Given the description of an element on the screen output the (x, y) to click on. 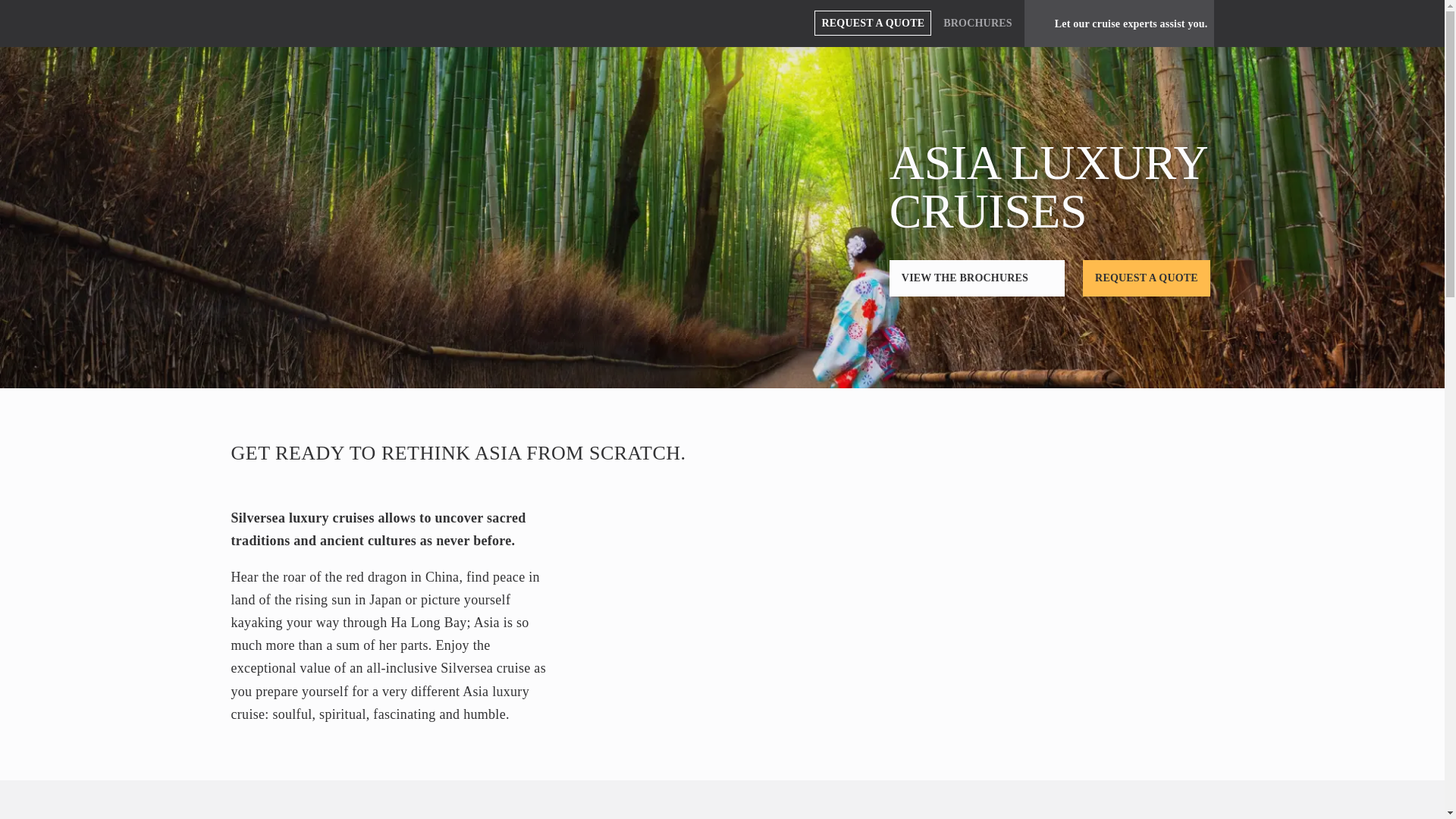
BROCHURES (977, 22)
VIEW THE BROCHURES (976, 278)
REQUEST A QUOTE (872, 23)
REQUEST A QUOTE (1146, 278)
